Given the description of an element on the screen output the (x, y) to click on. 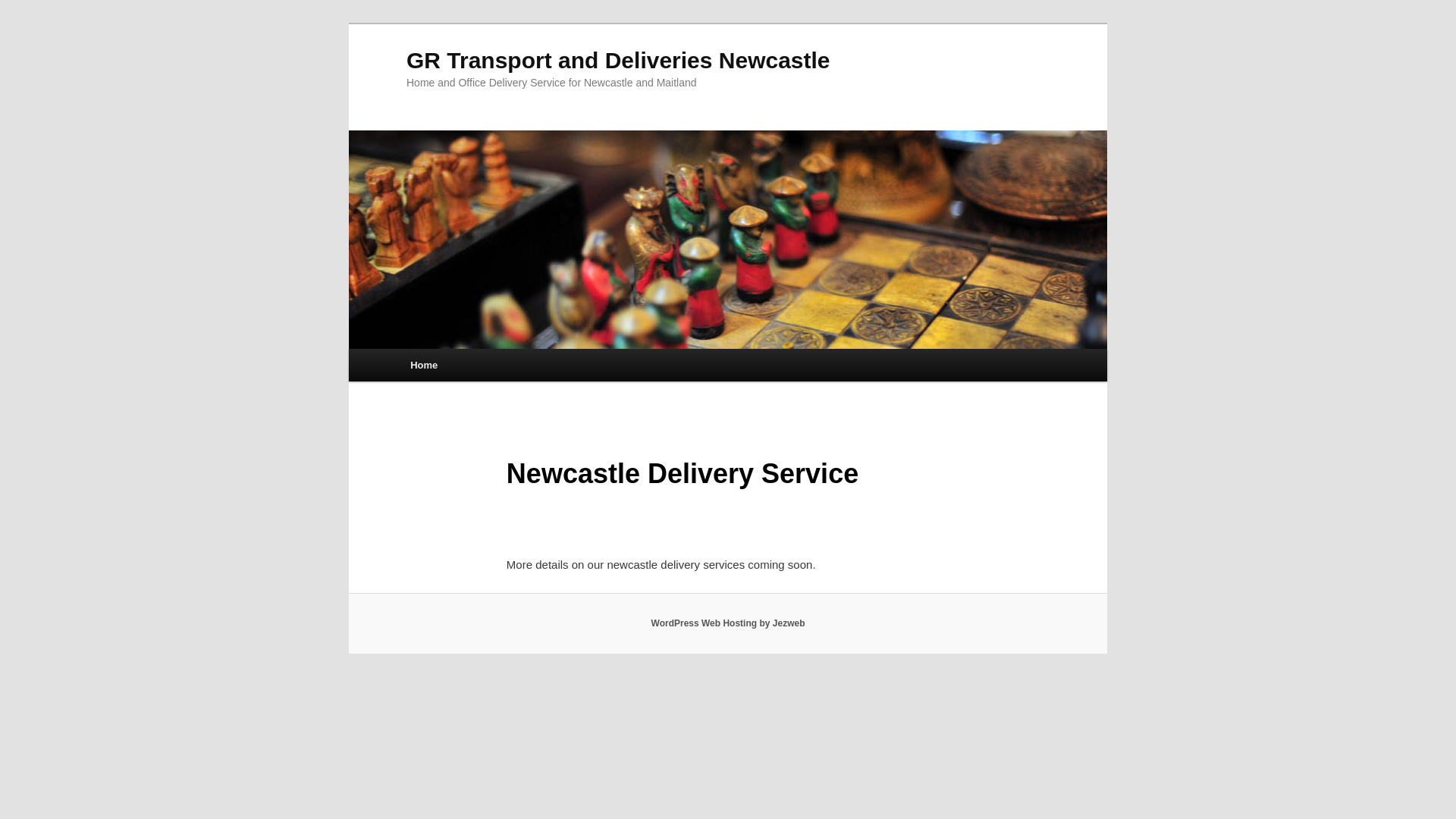
Home Element type: text (423, 364)
Skip to primary content Element type: text (420, 348)
WordPress Web Hosting by Jezweb Element type: text (728, 623)
GR Transport and Deliveries Newcastle Element type: text (618, 59)
